Given the description of an element on the screen output the (x, y) to click on. 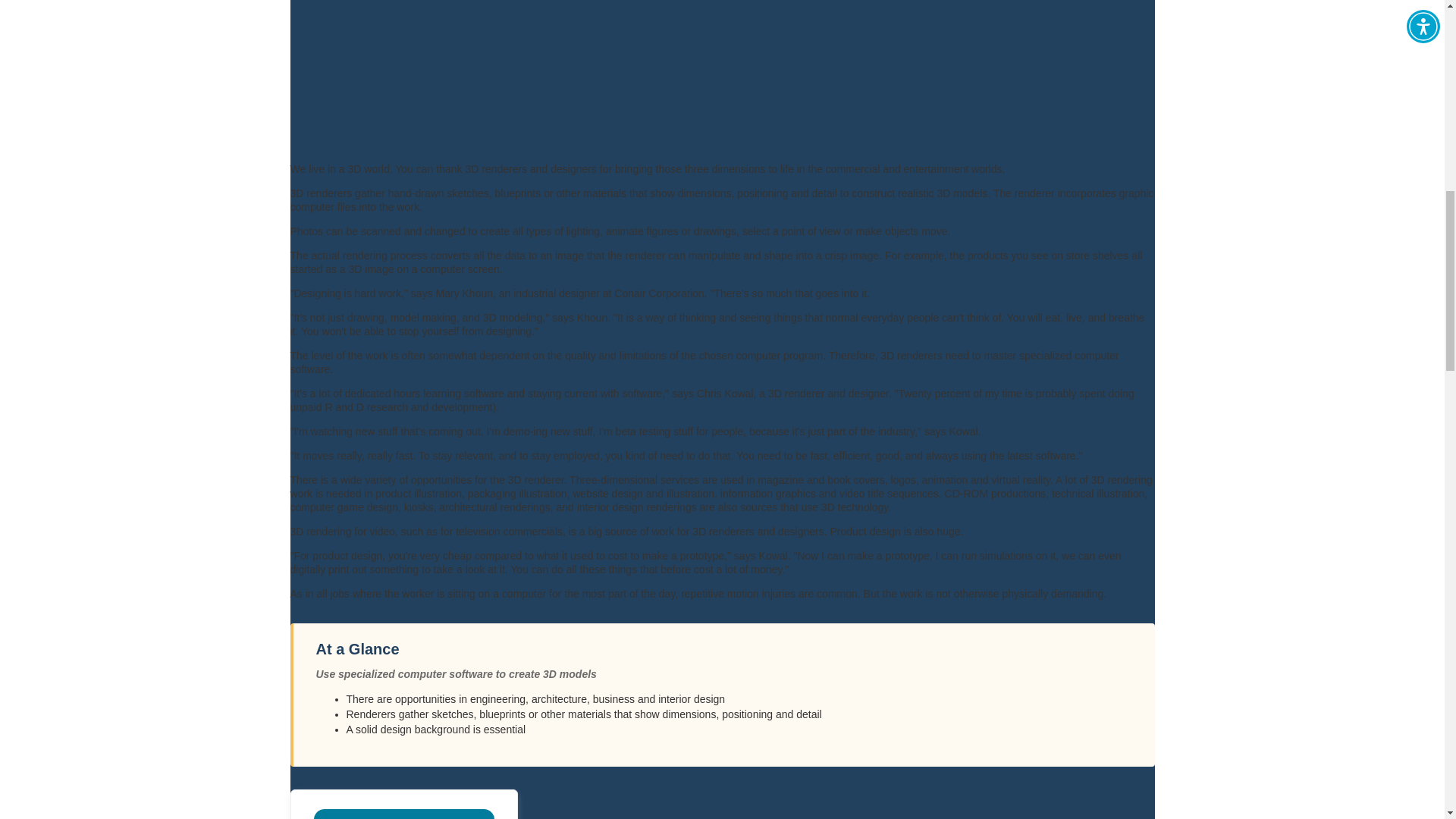
Save to Portfolio (404, 814)
